Given the description of an element on the screen output the (x, y) to click on. 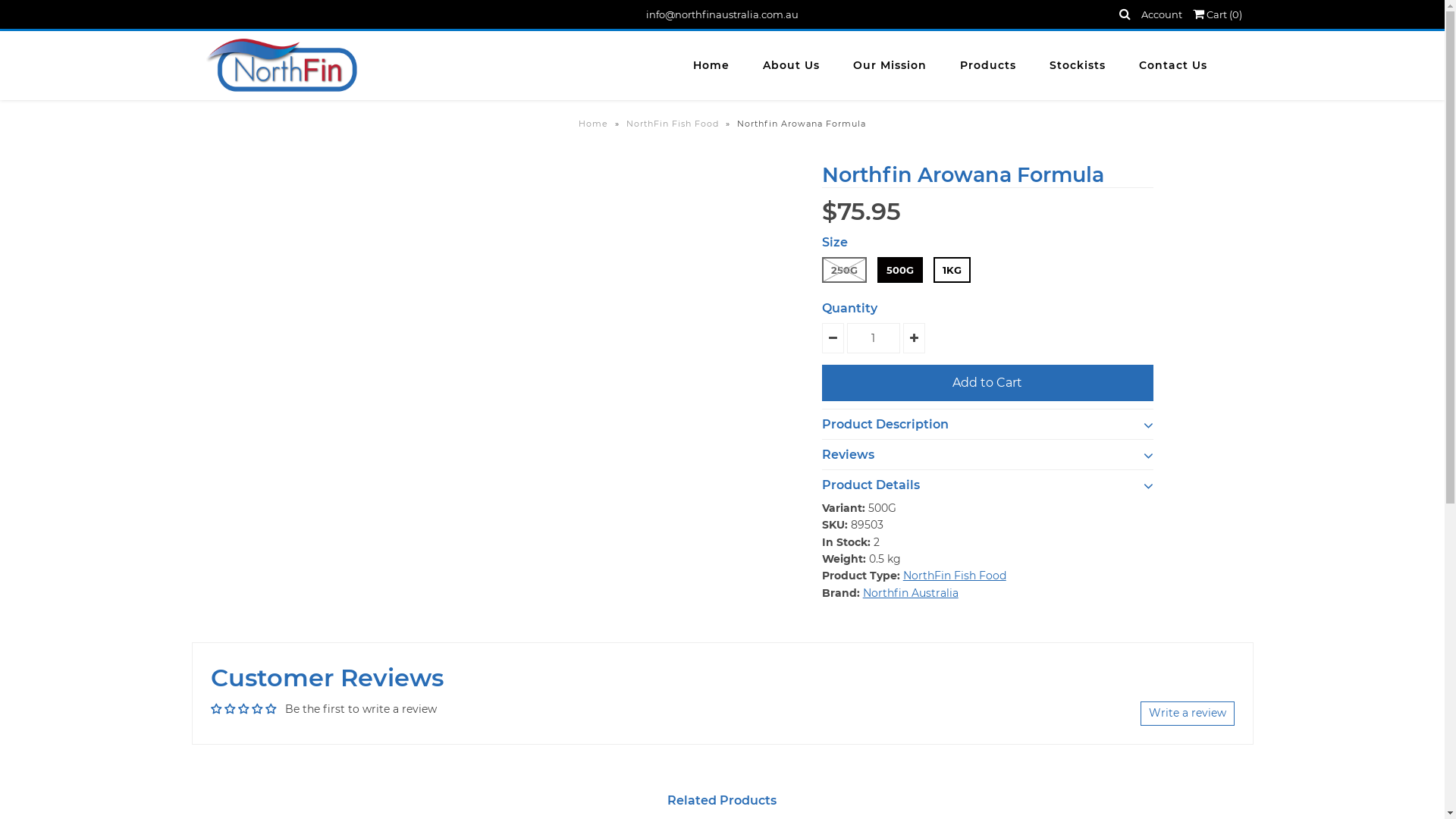
Product Details Element type: text (988, 481)
info@northfinaustralia.com.au Element type: text (722, 14)
Write a review Element type: text (1187, 713)
Reviews Element type: text (988, 450)
Cart (0) Element type: text (1217, 14)
Contact Us Element type: text (1173, 64)
NorthFin Fish Food Element type: text (674, 123)
Stockists Element type: text (1077, 64)
About Us Element type: text (790, 64)
Home Element type: text (594, 123)
Home Element type: text (711, 64)
Northfin Australia Element type: text (910, 592)
Products Element type: text (988, 64)
Product Description Element type: text (988, 420)
Account Element type: text (1161, 14)
Our Mission Element type: text (889, 64)
Add to Cart Element type: text (988, 382)
NorthFin Fish Food Element type: text (954, 575)
